Given the description of an element on the screen output the (x, y) to click on. 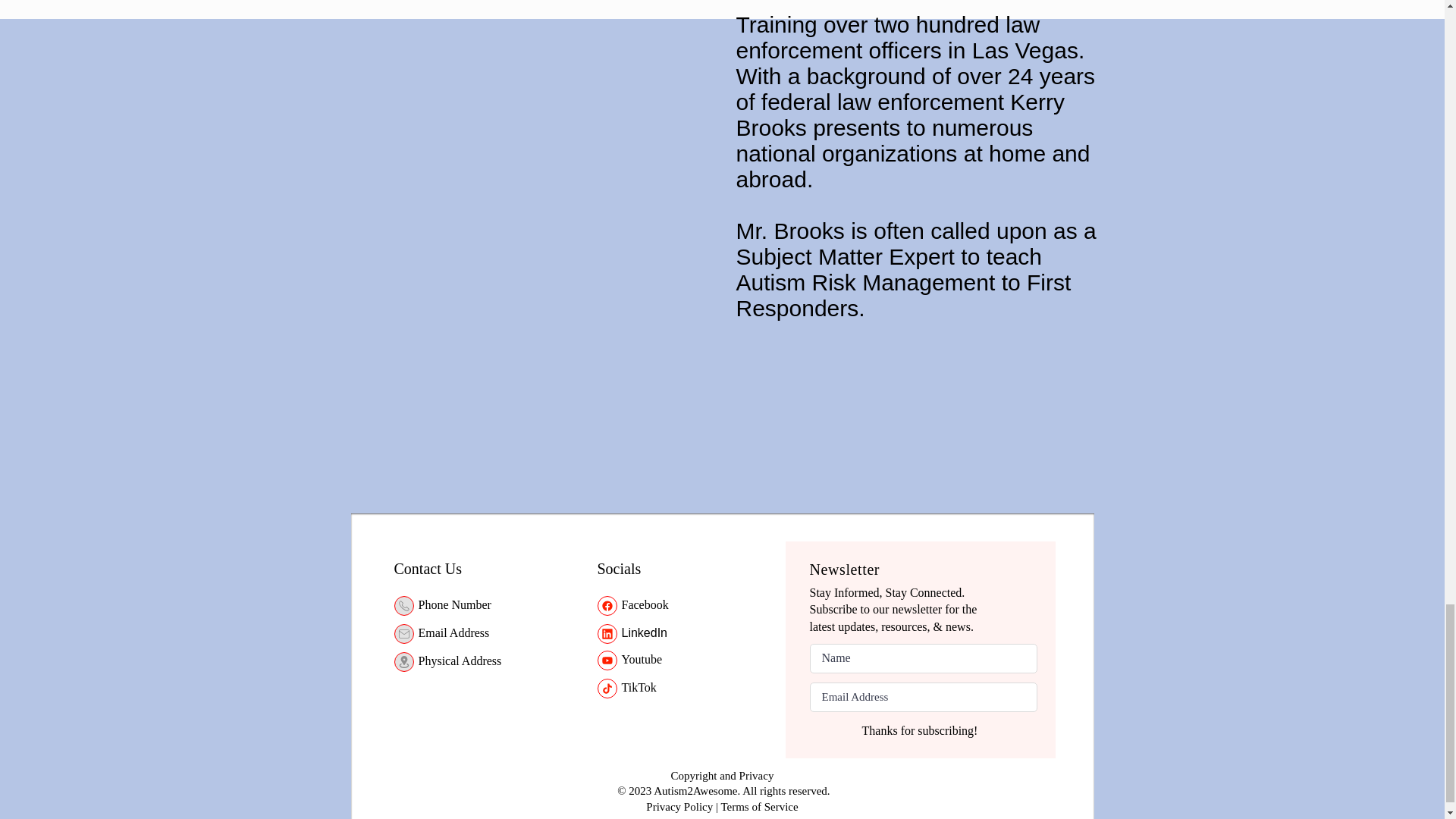
External YouTube (528, 157)
